Given the description of an element on the screen output the (x, y) to click on. 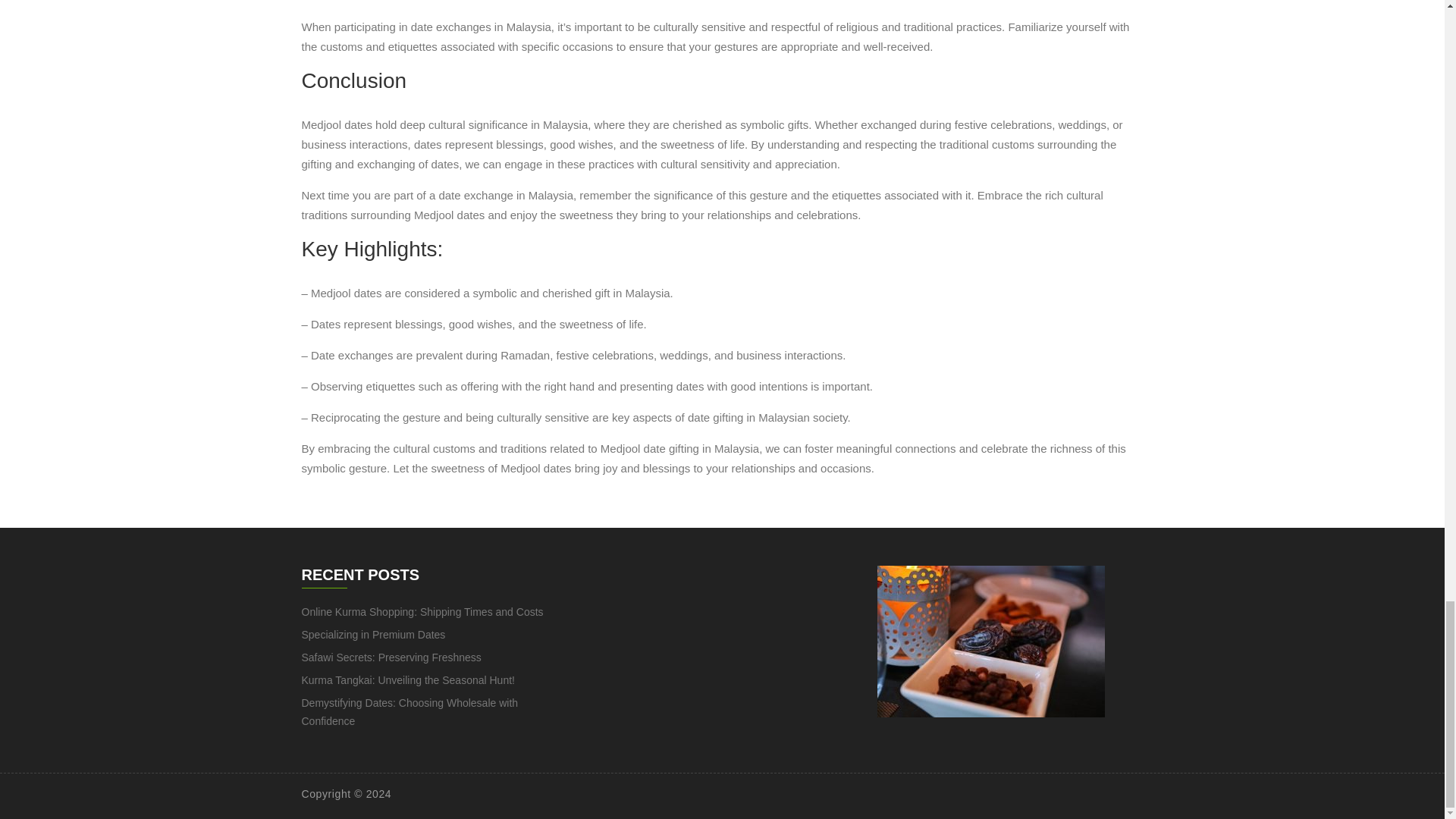
Safawi Secrets: Preserving Freshness (391, 657)
Demystifying Dates: Choosing Wholesale with Confidence (409, 711)
Online Kurma Shopping: Shipping Times and Costs (422, 612)
Specializing in Premium Dates (373, 634)
Kurma Tangkai: Unveiling the Seasonal Hunt! (408, 680)
